Given the description of an element on the screen output the (x, y) to click on. 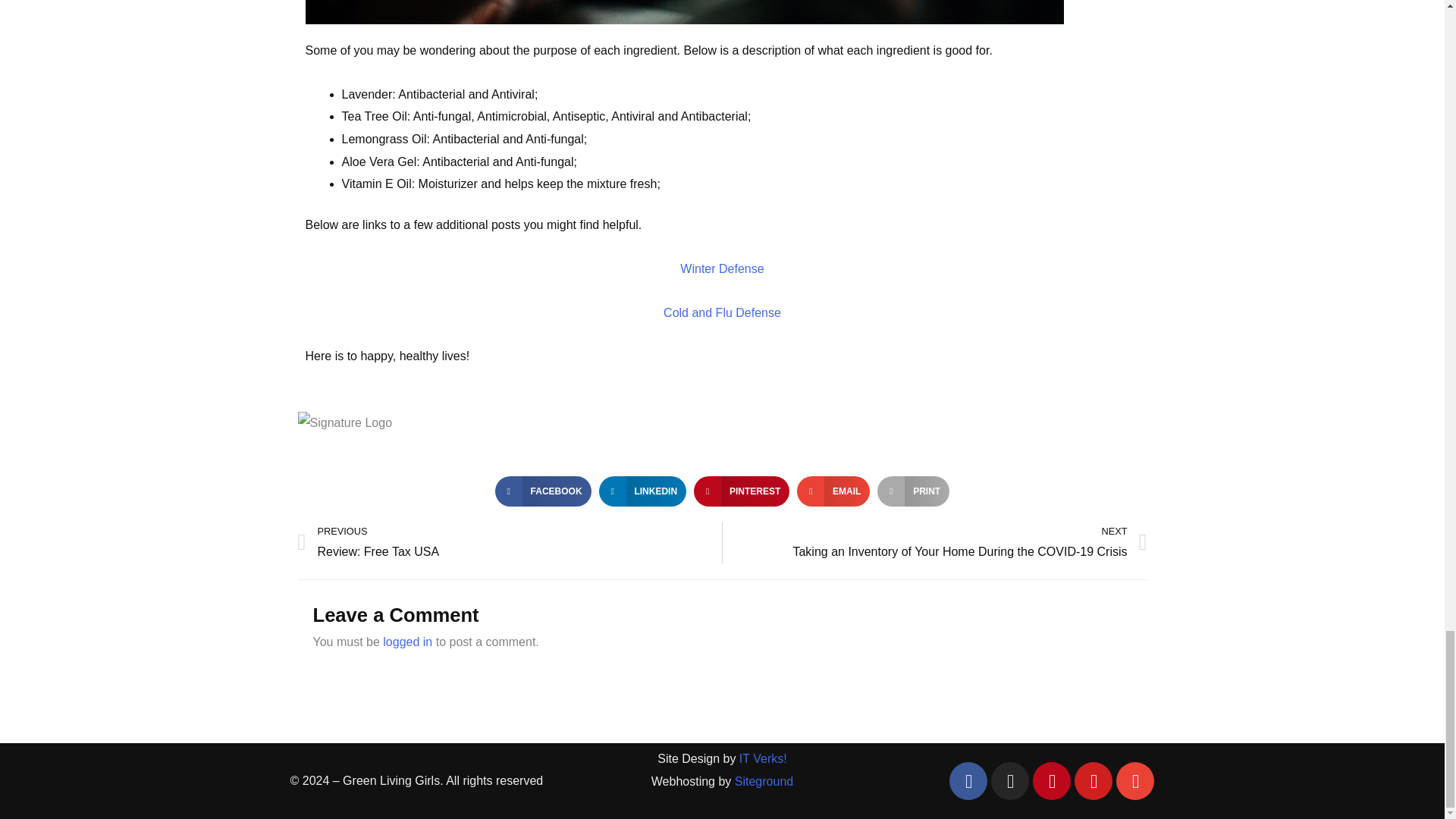
Facebook (968, 781)
Pinterest (1051, 781)
Siteground (509, 542)
Cold and Flu Defense (764, 780)
Envelope (721, 312)
Winter Defense (1135, 781)
Youtube (720, 268)
Instagram (1093, 781)
